Given the description of an element on the screen output the (x, y) to click on. 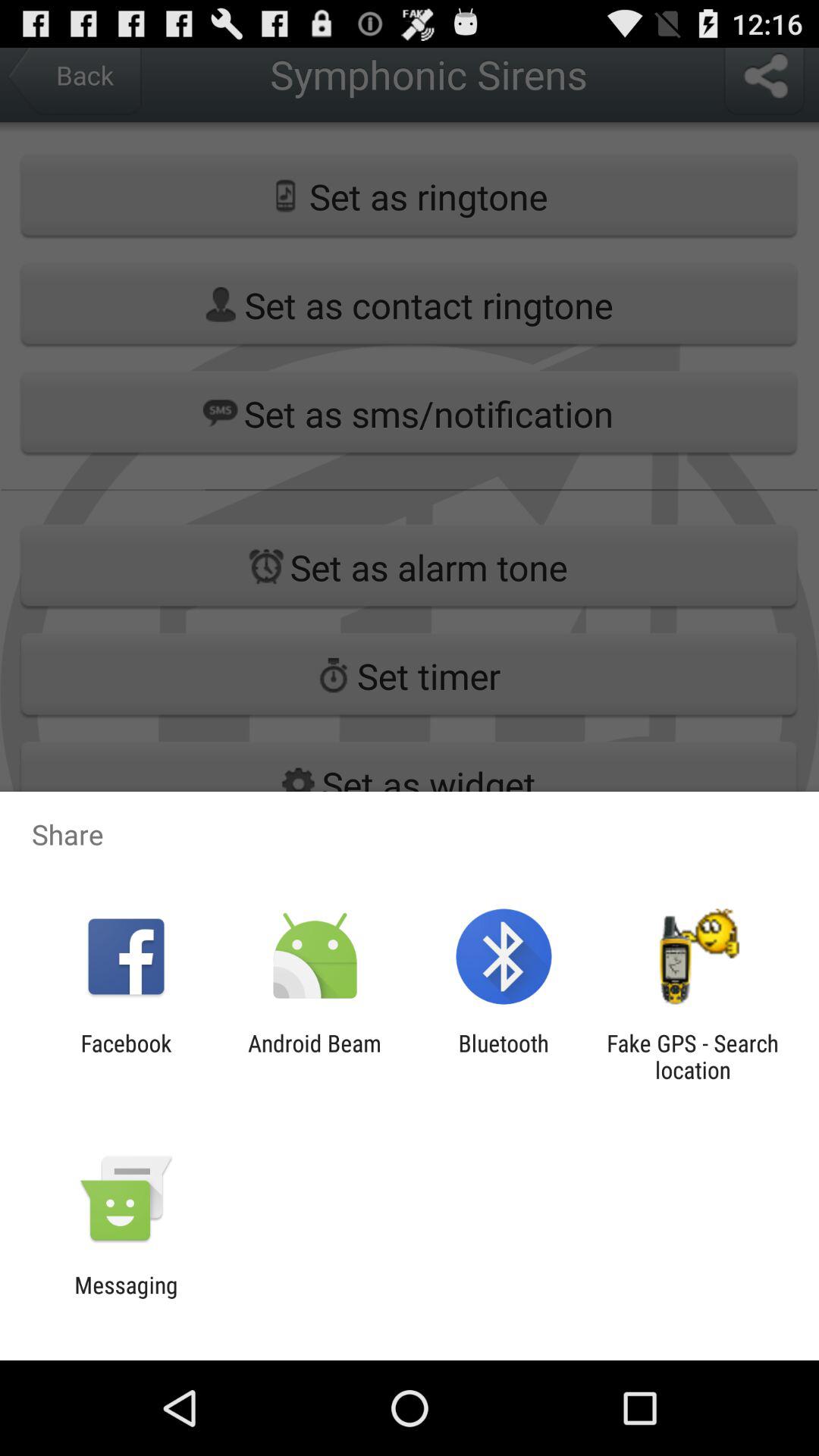
choose item to the left of the fake gps search icon (503, 1056)
